Given the description of an element on the screen output the (x, y) to click on. 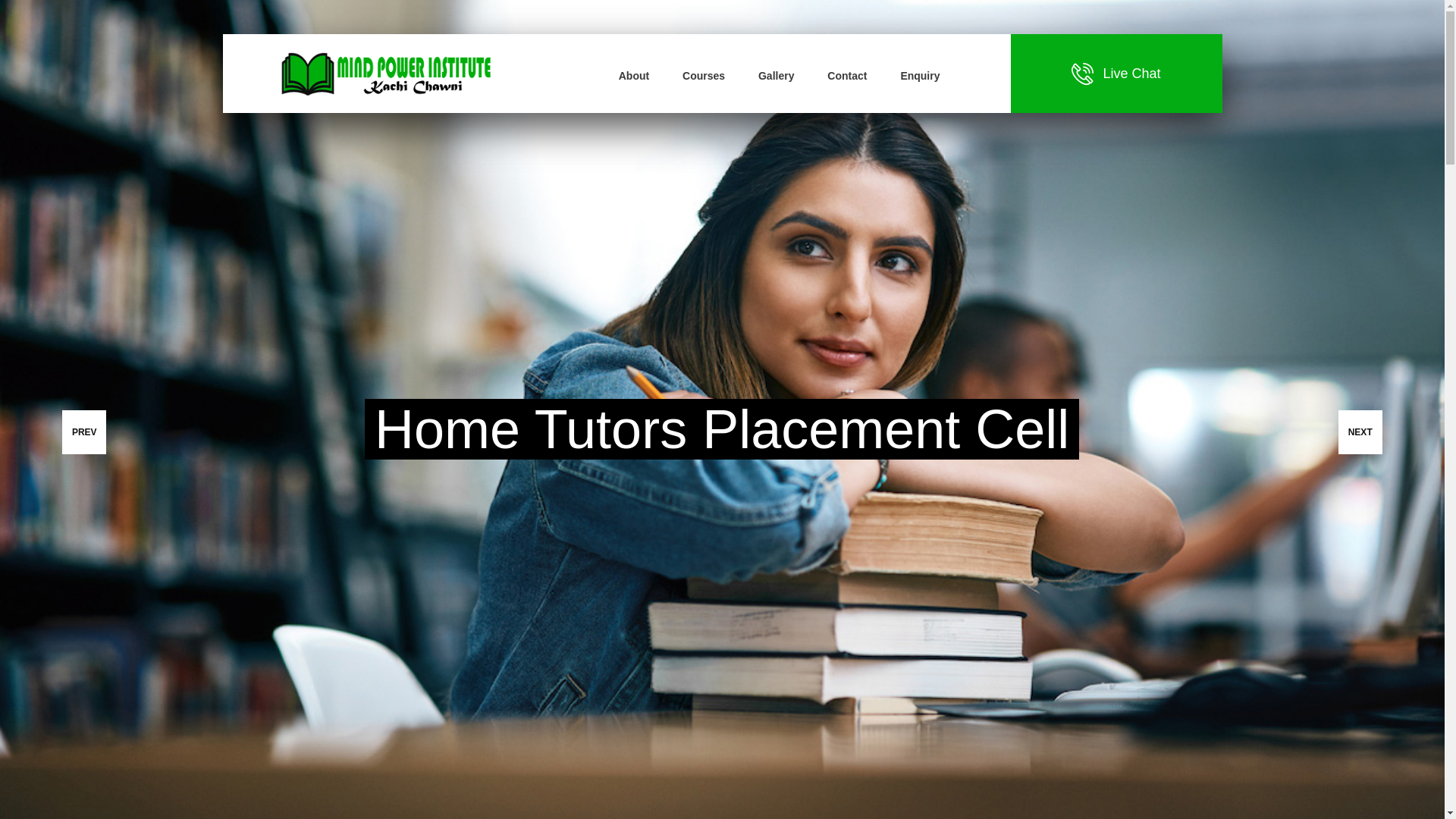
Contact (846, 75)
Courses (703, 75)
Enquiry (919, 75)
Gallery (775, 75)
Live Chat (1126, 73)
About (633, 75)
